Given the description of an element on the screen output the (x, y) to click on. 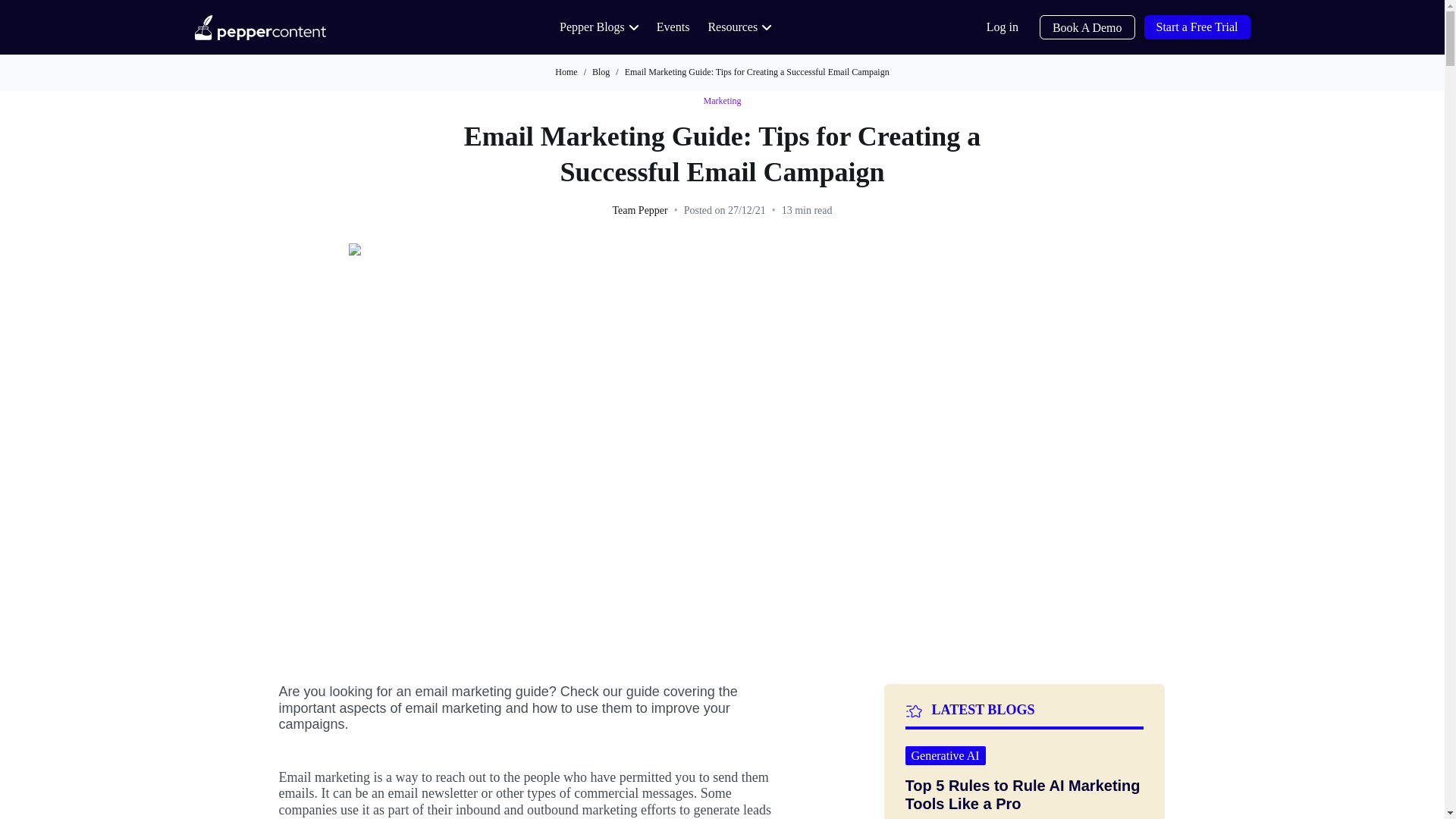
Blog (601, 71)
Start a Free Trial (1195, 27)
Log in (1002, 27)
Homepage (259, 27)
Home (565, 71)
Pepper Blogs (599, 27)
Book A Demo (1087, 27)
Resources (739, 27)
Events (673, 27)
Marketing (722, 101)
